Given the description of an element on the screen output the (x, y) to click on. 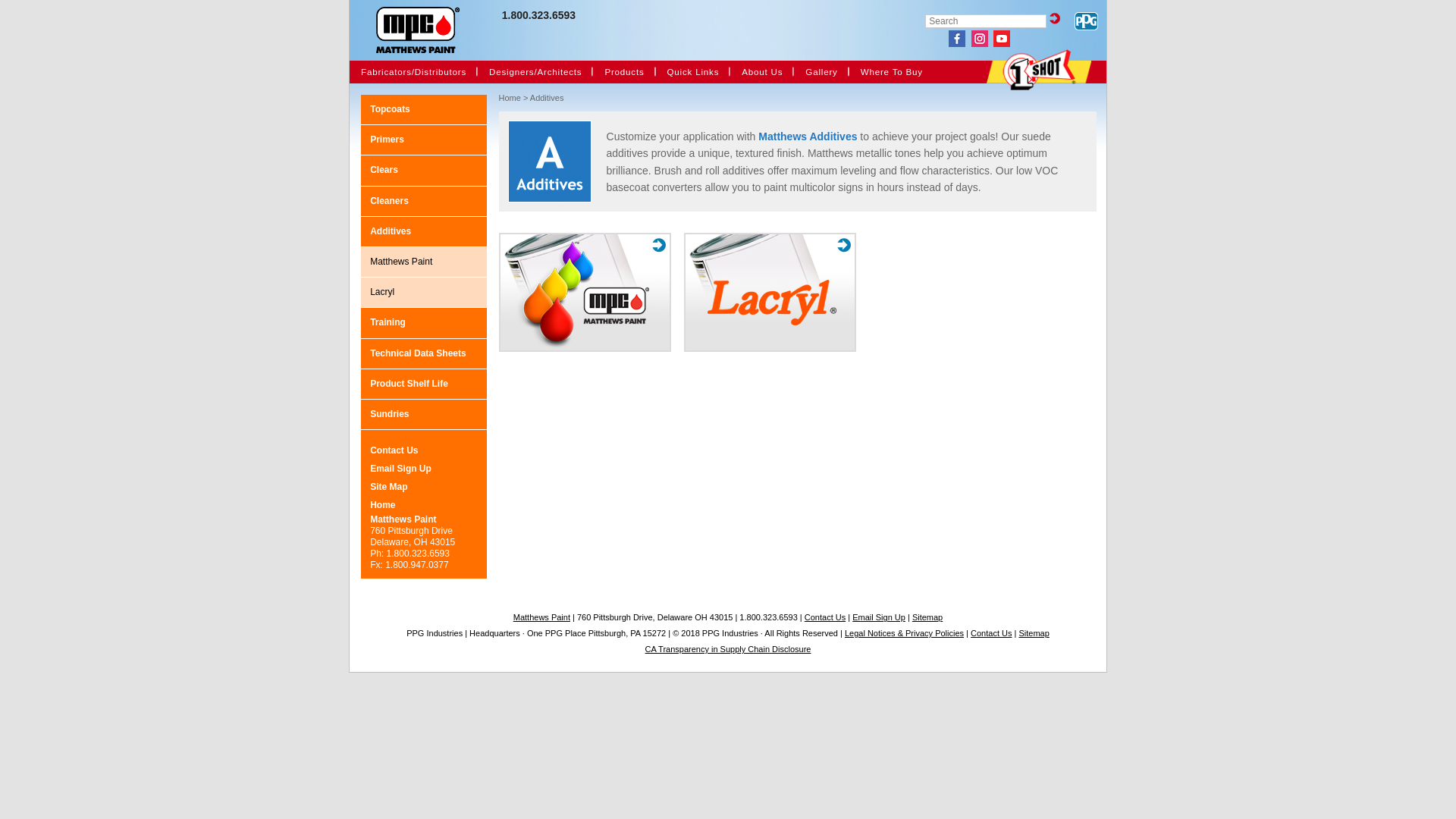
About Us Element type: text (761, 71)
Contact Us Element type: text (393, 450)
Gallery Element type: text (820, 71)
Clears Element type: text (384, 169)
Home Element type: text (382, 504)
Color Tools Element type: text (488, 96)
Designers/Architects Element type: text (535, 71)
Topcoats Element type: text (389, 108)
Quick Links Element type: text (693, 71)
Contact Us Element type: text (825, 616)
CA Transparency in Supply Chain Disclosure Element type: text (728, 648)
Events Element type: text (741, 96)
Contact Us Element type: text (990, 632)
Legal Notices & Privacy Policies Element type: text (903, 632)
Technical Data Sheets Element type: text (418, 352)
Matthews Paint Element type: text (426, 265)
Product Shelf Life Element type: text (409, 383)
Topcoats Element type: text (604, 96)
Email Sign Up Element type: text (400, 468)
Sundries Element type: text (389, 413)
Additives Element type: text (428, 235)
Color Resources Element type: text (360, 96)
Home Element type: text (509, 97)
Email Sign Up Element type: text (879, 616)
Products Element type: text (624, 71)
Site Map Element type: text (388, 486)
Fabricators/Distributors Element type: text (413, 71)
Sitemap Element type: text (927, 616)
Products Element type: text (666, 96)
Sitemap Element type: text (1033, 632)
Matthews Paint Element type: text (542, 616)
Where To Buy Element type: text (891, 71)
Page One Element type: text (804, 96)
Lacryl Element type: text (426, 296)
Cleaners Element type: text (389, 200)
Training Element type: text (387, 321)
Primers Element type: text (387, 139)
